Given the description of an element on the screen output the (x, y) to click on. 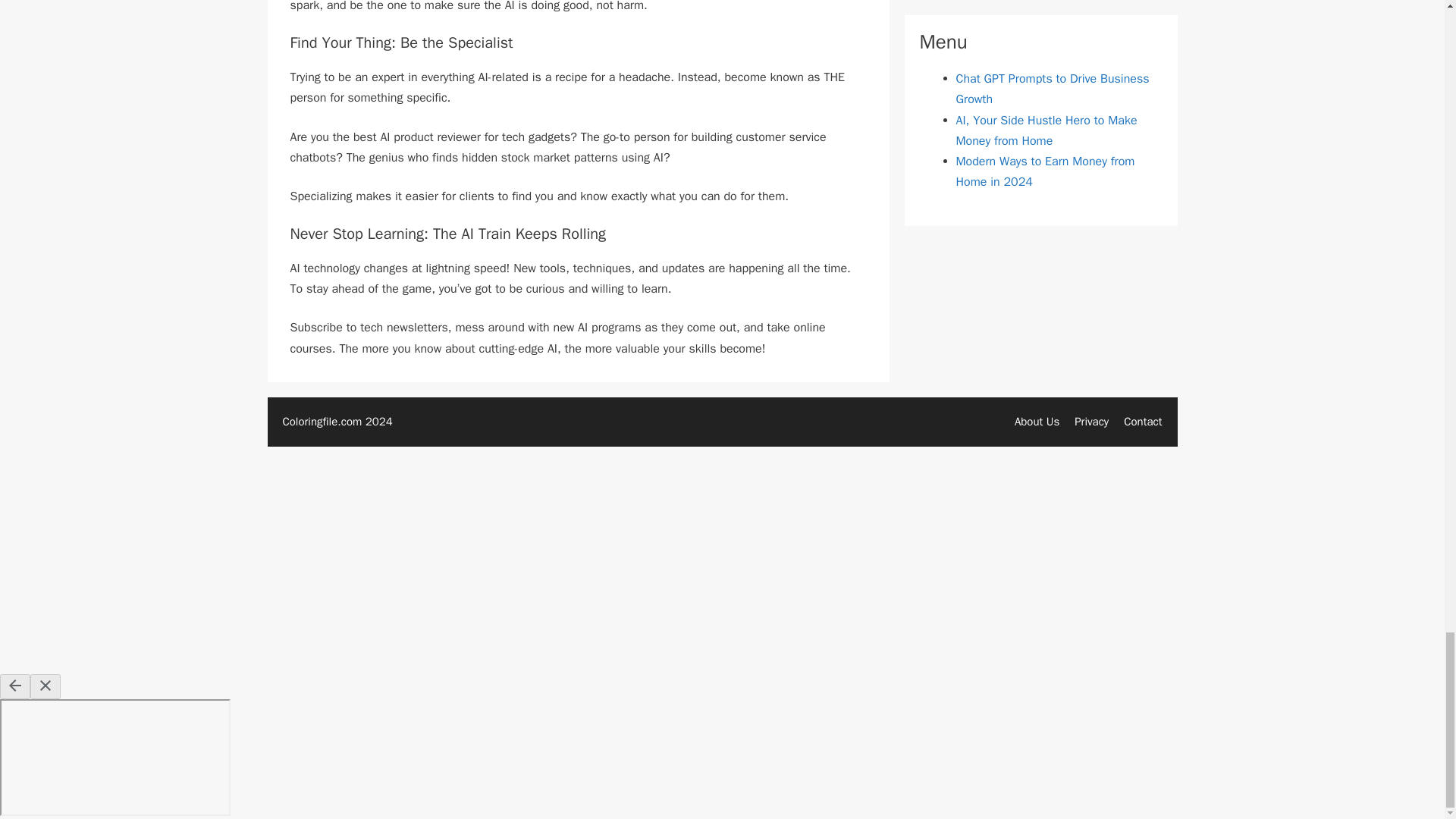
Contact (1142, 421)
Privacy (1091, 421)
About Us (1036, 421)
